Given the description of an element on the screen output the (x, y) to click on. 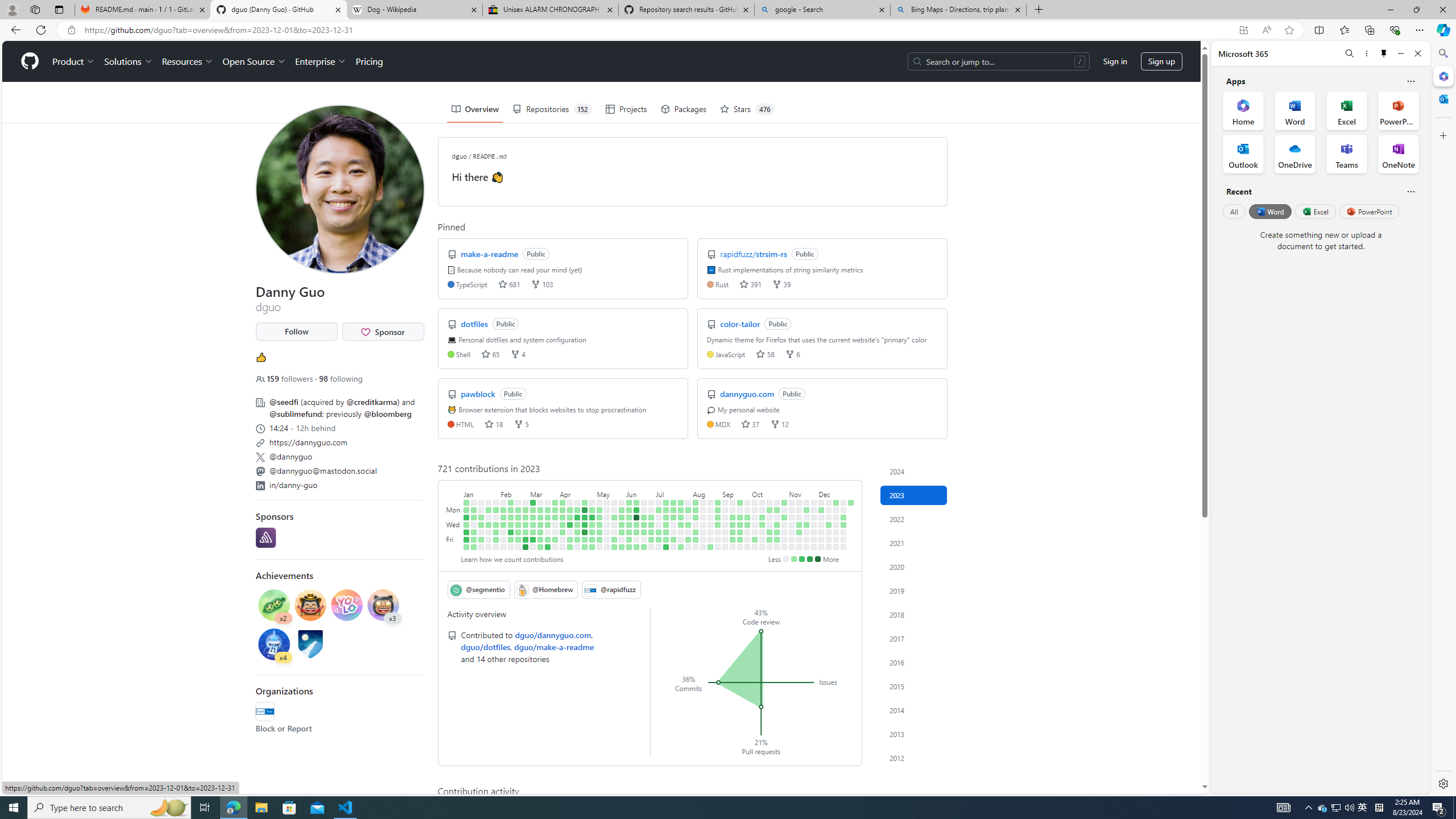
Contribution activity in 2012 (913, 757)
1 contribution on June 20th. (643, 517)
2016 (913, 662)
No contributions on November 4th. (784, 546)
3 contributions on August 28th. (717, 509)
1 contribution on December 31st. (850, 502)
1 contribution on October 29th. (784, 502)
No contributions on August 14th. (703, 509)
No contributions on November 24th. (806, 539)
3 contributions on January 13th. (473, 539)
No contributions on August 20th. (710, 502)
Contribution activity in 2022 (913, 519)
July (673, 492)
